Given the description of an element on the screen output the (x, y) to click on. 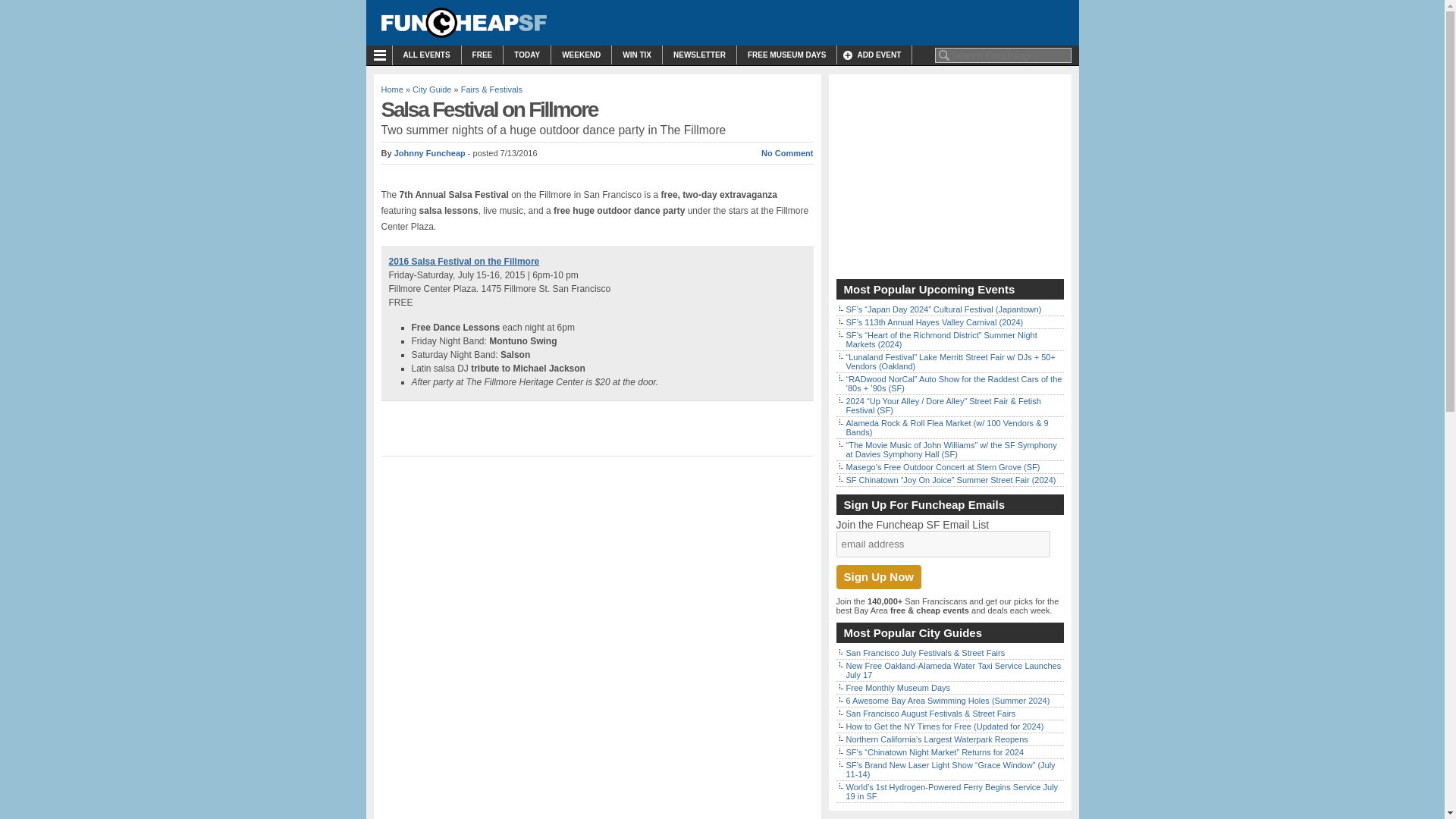
Sub-Menu Toggle (381, 55)
Home (391, 89)
ADD EVENT (874, 54)
City Guide (431, 89)
FREE (482, 54)
WIN TIX (636, 54)
Posts by Johnny Funcheap (429, 153)
MENU (381, 55)
FREE MUSEUM DAYS (786, 54)
WEEKEND (581, 54)
Sign Up Now (878, 576)
TODAY (526, 54)
Free Monthly Museum Days (897, 687)
New Free Oakland-Alameda Water Taxi Service Launches July 17 (953, 669)
NEWSLETTER (699, 54)
